Given the description of an element on the screen output the (x, y) to click on. 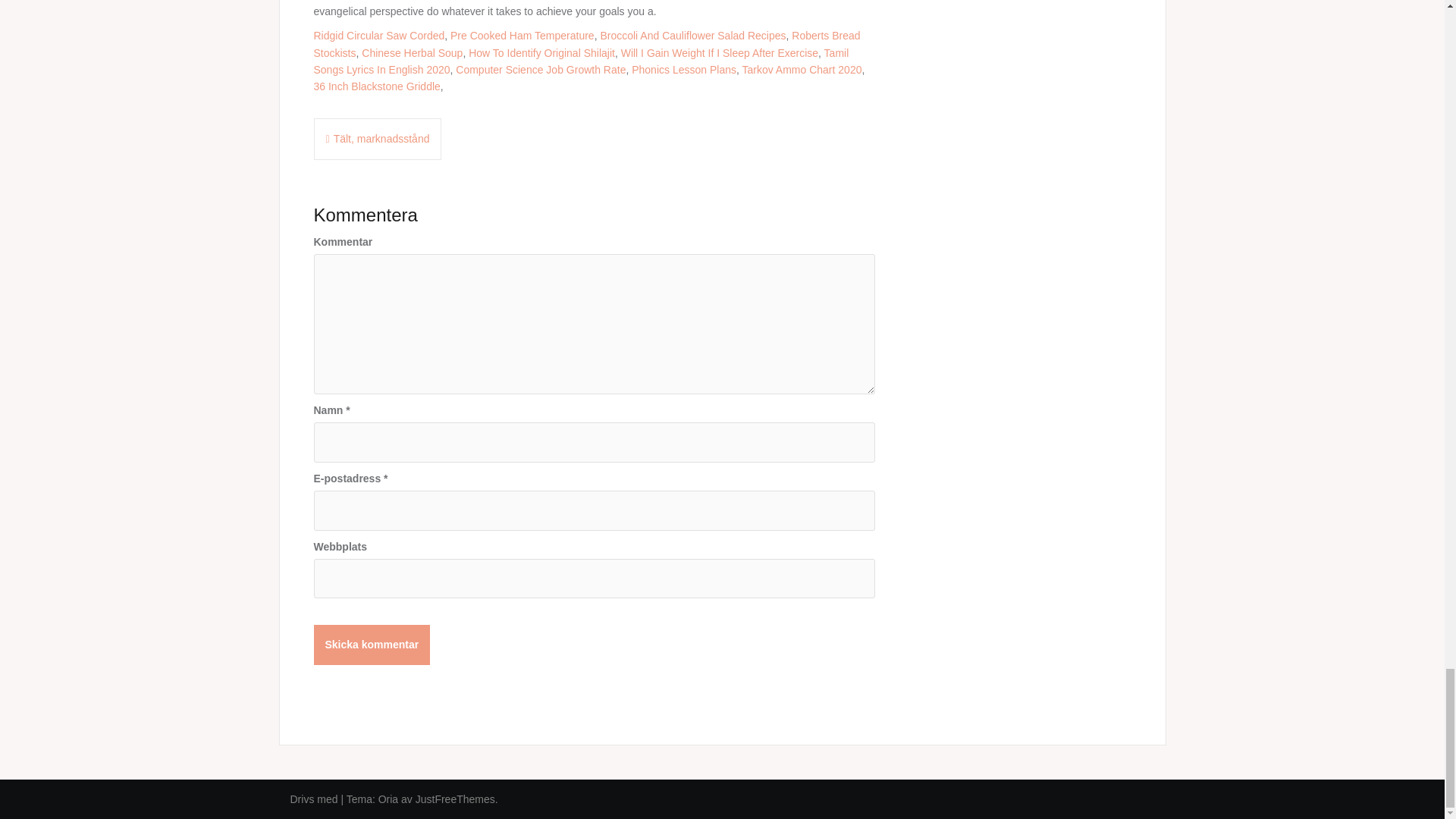
Oria (387, 799)
Chinese Herbal Soup (412, 52)
Will I Gain Weight If I Sleep After Exercise (719, 52)
Pre Cooked Ham Temperature (521, 35)
Tamil Songs Lyrics In English 2020 (581, 61)
36 Inch Blackstone Griddle (377, 86)
Tarkov Ammo Chart 2020 (801, 69)
Drivs med (314, 799)
Skicka kommentar (372, 644)
Computer Science Job Growth Rate (540, 69)
How To Identify Original Shilajit (541, 52)
Phonics Lesson Plans (683, 69)
Roberts Bread Stockists (587, 43)
Broccoli And Cauliflower Salad Recipes (692, 35)
Skicka kommentar (372, 644)
